Given the description of an element on the screen output the (x, y) to click on. 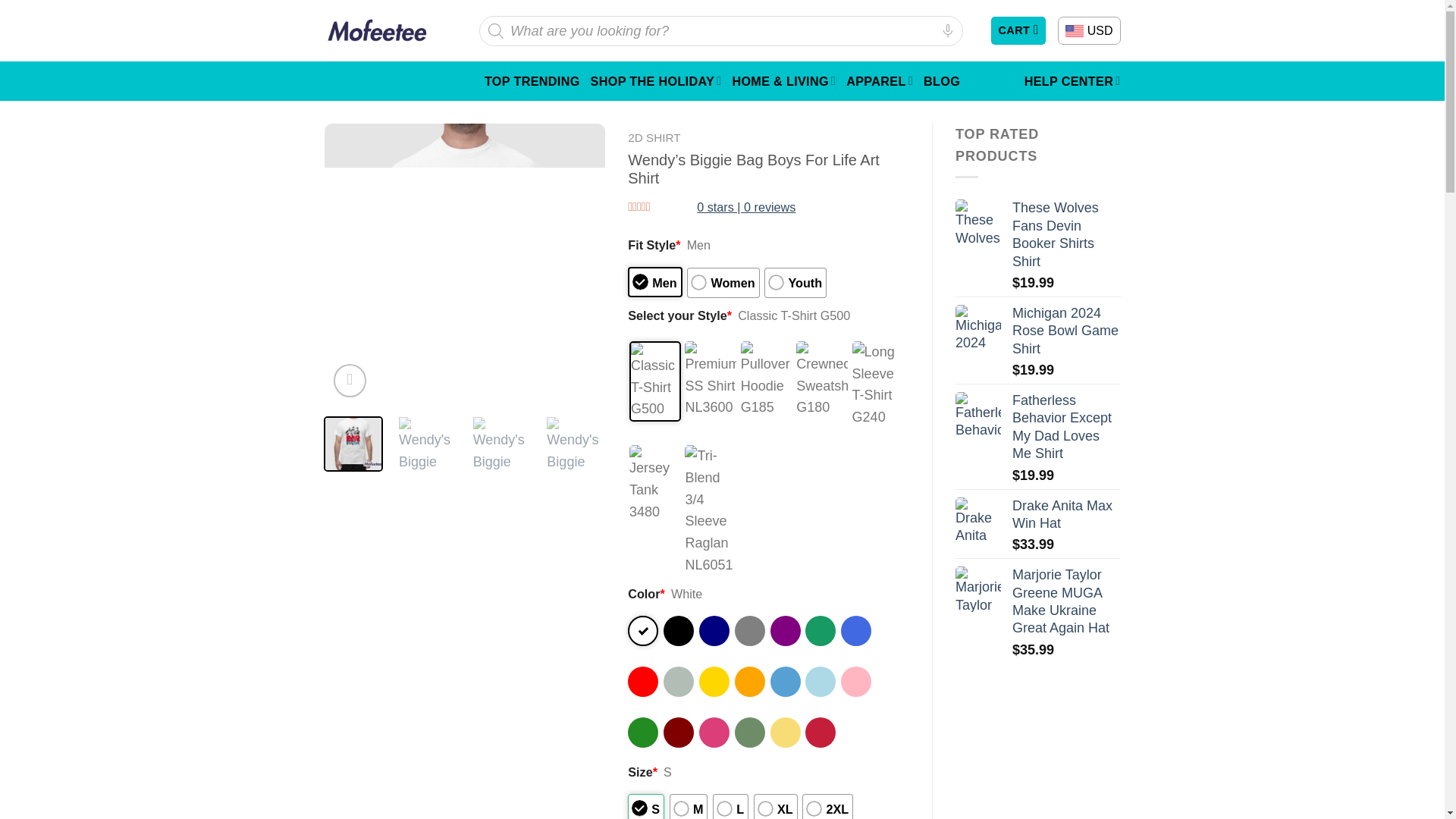
APPAREL (878, 80)
CART (1018, 30)
Drake Anita Max Win Hat (1066, 515)
Drake Anita Max Win Hat (978, 519)
Michigan 2024 Rose Bowl Game Shirt (1066, 330)
HELP CENTER (1073, 80)
Cart (1018, 30)
BLOG (941, 80)
Michigan 2024 Rose Bowl Game Shirt (978, 327)
Zoom (349, 380)
These Wolves Fans Devin Booker Shirts Shirt (978, 221)
Fatherless Behavior Except My Dad Loves Me Shirt (978, 414)
Fatherless Behavior Except My Dad Loves Me Shirt (1066, 427)
TOP TRENDING (531, 80)
SHOP THE HOLIDAY (656, 80)
